Given the description of an element on the screen output the (x, y) to click on. 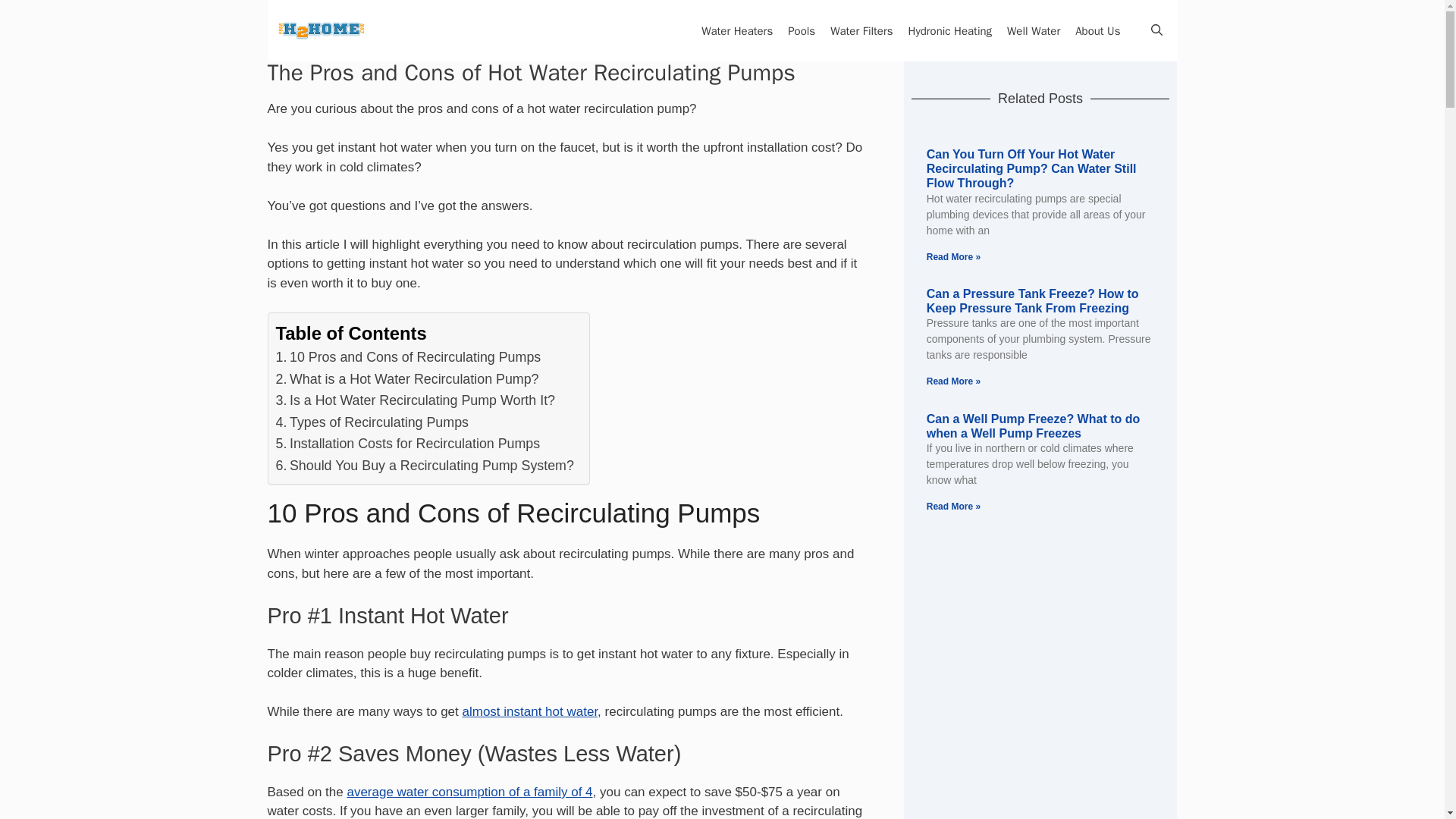
almost instant hot water, (532, 711)
average water consumption of a family of 4 (469, 791)
Types of Recirculating Pumps (372, 421)
Types of Recirculating Pumps (372, 421)
Water Heaters (729, 30)
Is a Hot Water Recirculating Pump Worth It? (416, 400)
Pools (794, 30)
Is a Hot Water Recirculating Pump Worth It? (416, 400)
Hydronic Heating (942, 30)
Your H2Home (320, 30)
Installation Costs for Recirculation Pumps (408, 443)
10 Pros and Cons of Recirculating Pumps (408, 356)
What is a Hot Water Recirculation Pump? (407, 378)
Water Filters (853, 30)
About Us (1097, 30)
